Given the description of an element on the screen output the (x, y) to click on. 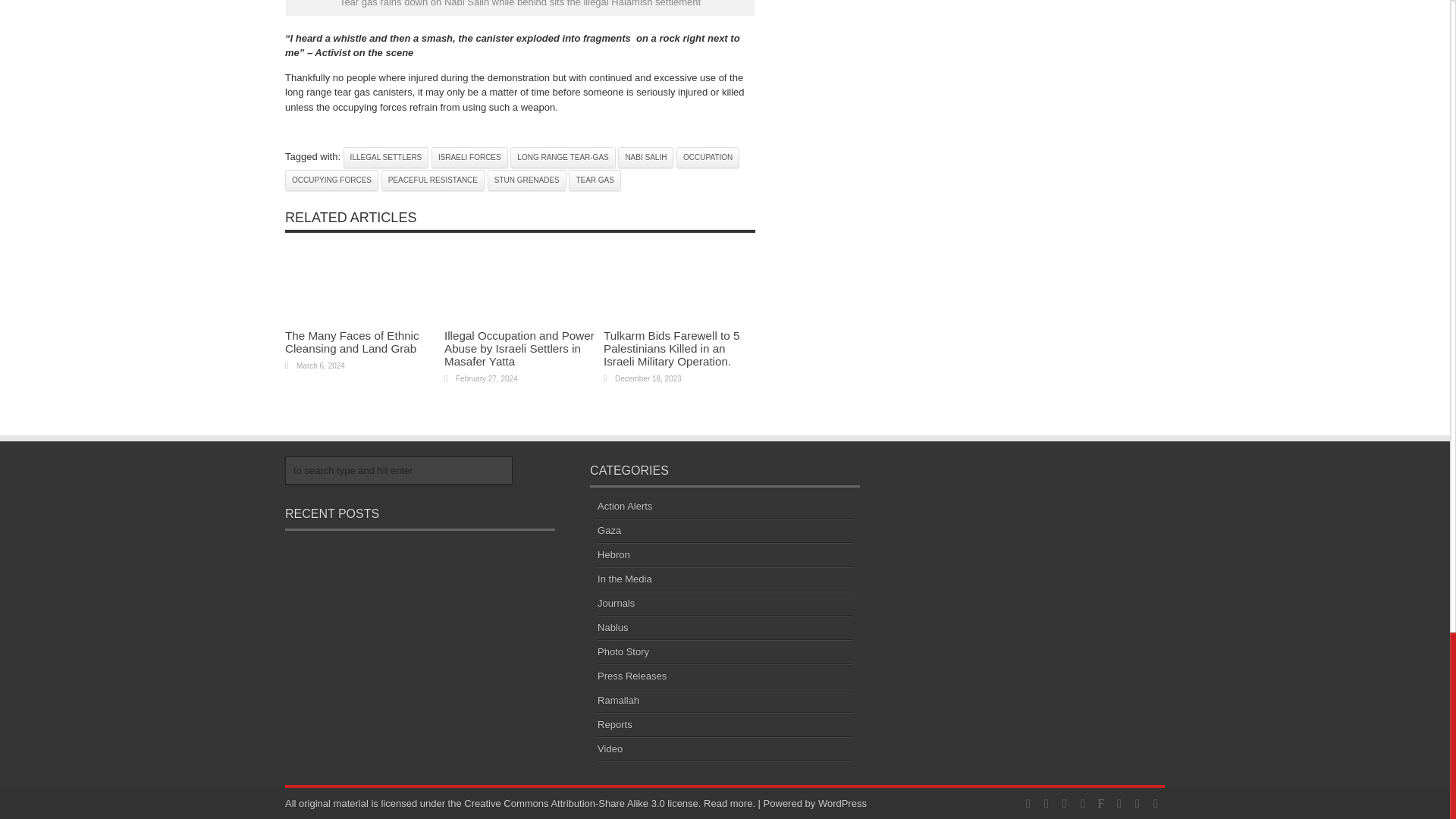
to search type and hit enter (398, 470)
